Given the description of an element on the screen output the (x, y) to click on. 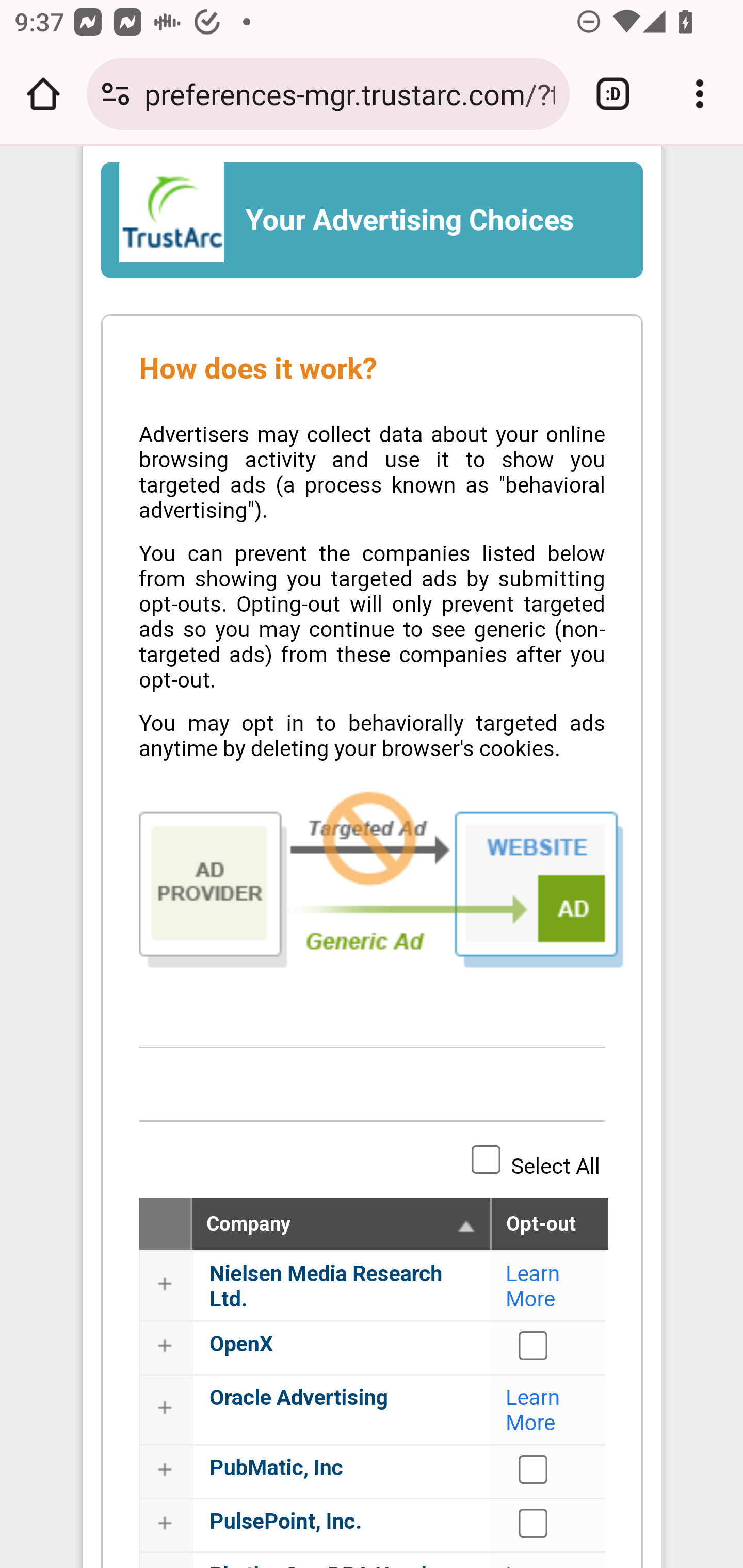
Open the home page (43, 93)
Connection is secure (115, 93)
Switch or close tabs (612, 93)
Customize and control Google Chrome (699, 93)
 Select All  (485, 1159)
